Given the description of an element on the screen output the (x, y) to click on. 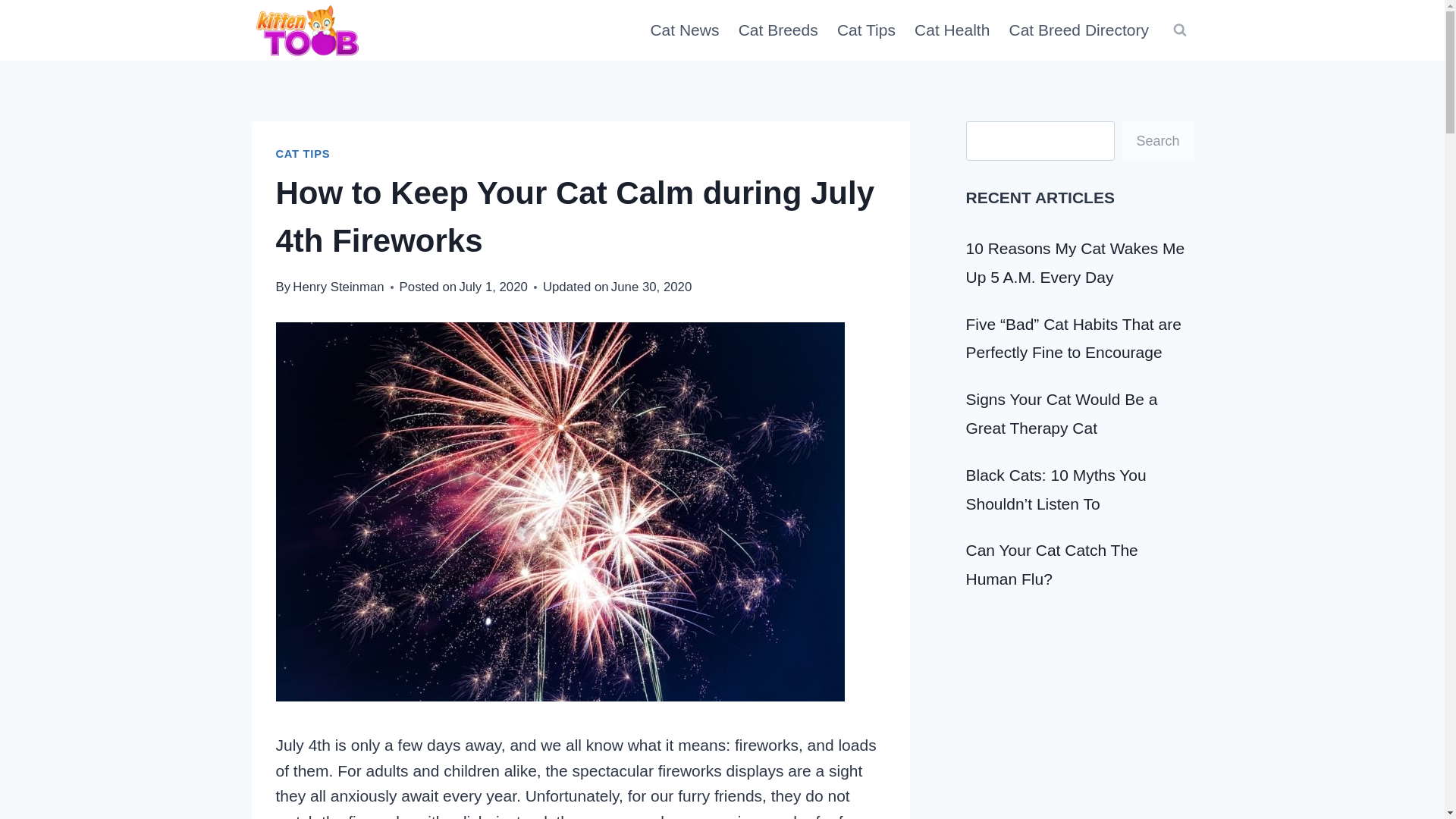
Cat Breed Directory (1078, 30)
Cat Breeds (778, 30)
CAT TIPS (303, 153)
Henry Steinman (338, 287)
Cat News (684, 30)
Cat Health (951, 30)
Cat Tips (865, 30)
